Given the description of an element on the screen output the (x, y) to click on. 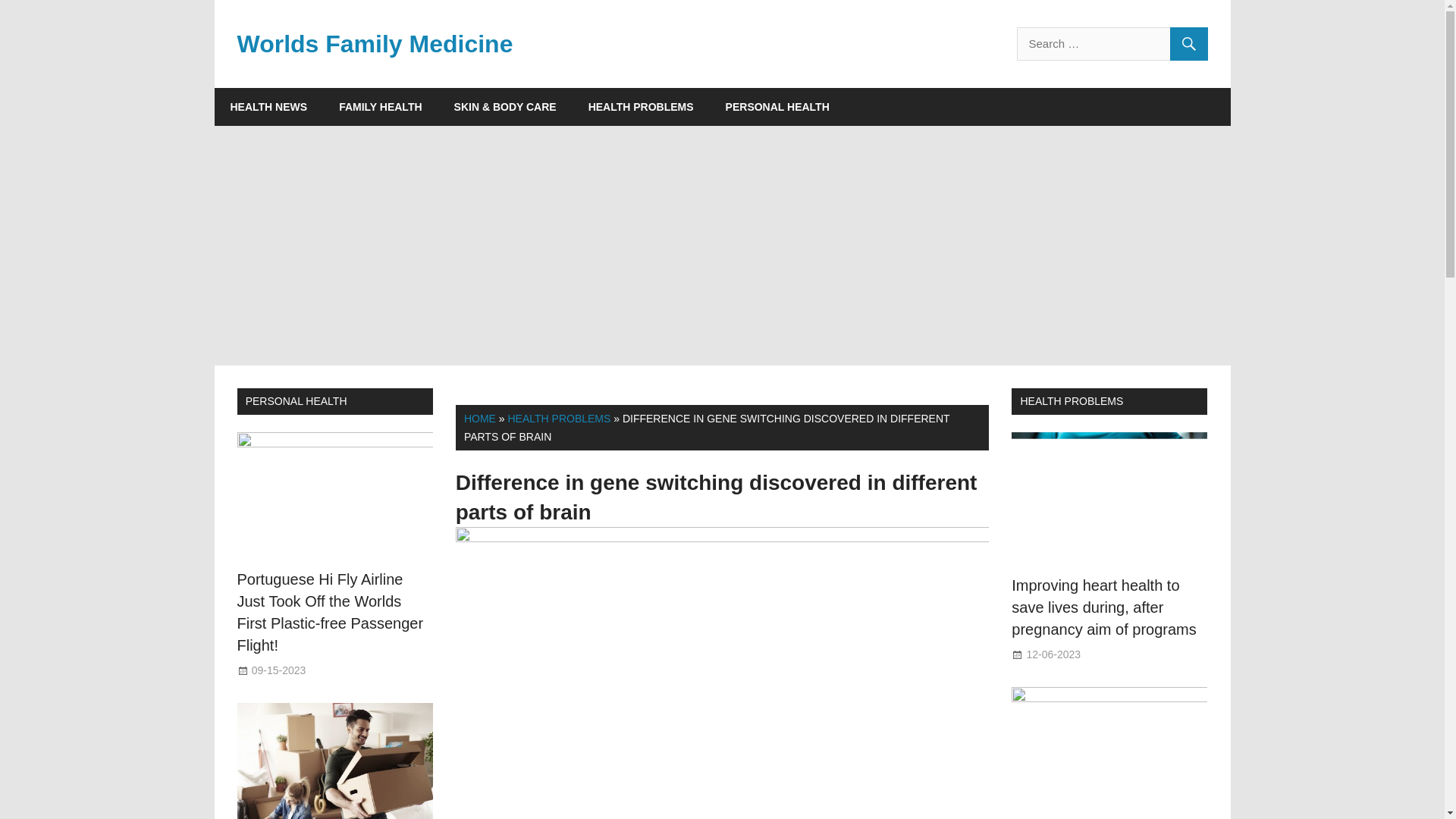
HEALTH NEWS (268, 106)
HEALTH PROBLEMS (558, 418)
HOME (480, 418)
View all posts from category Personal Health (296, 400)
Search for: (1111, 43)
PERSONAL HEALTH (296, 400)
22:40 (1053, 654)
HEALTH PROBLEMS (641, 106)
FAMILY HEALTH (380, 106)
PERSONAL HEALTH (777, 106)
Worlds Family Medicine (373, 43)
09-15-2023 (278, 670)
View all posts from category Health Problems (1071, 400)
10:35 (278, 670)
